Given the description of an element on the screen output the (x, y) to click on. 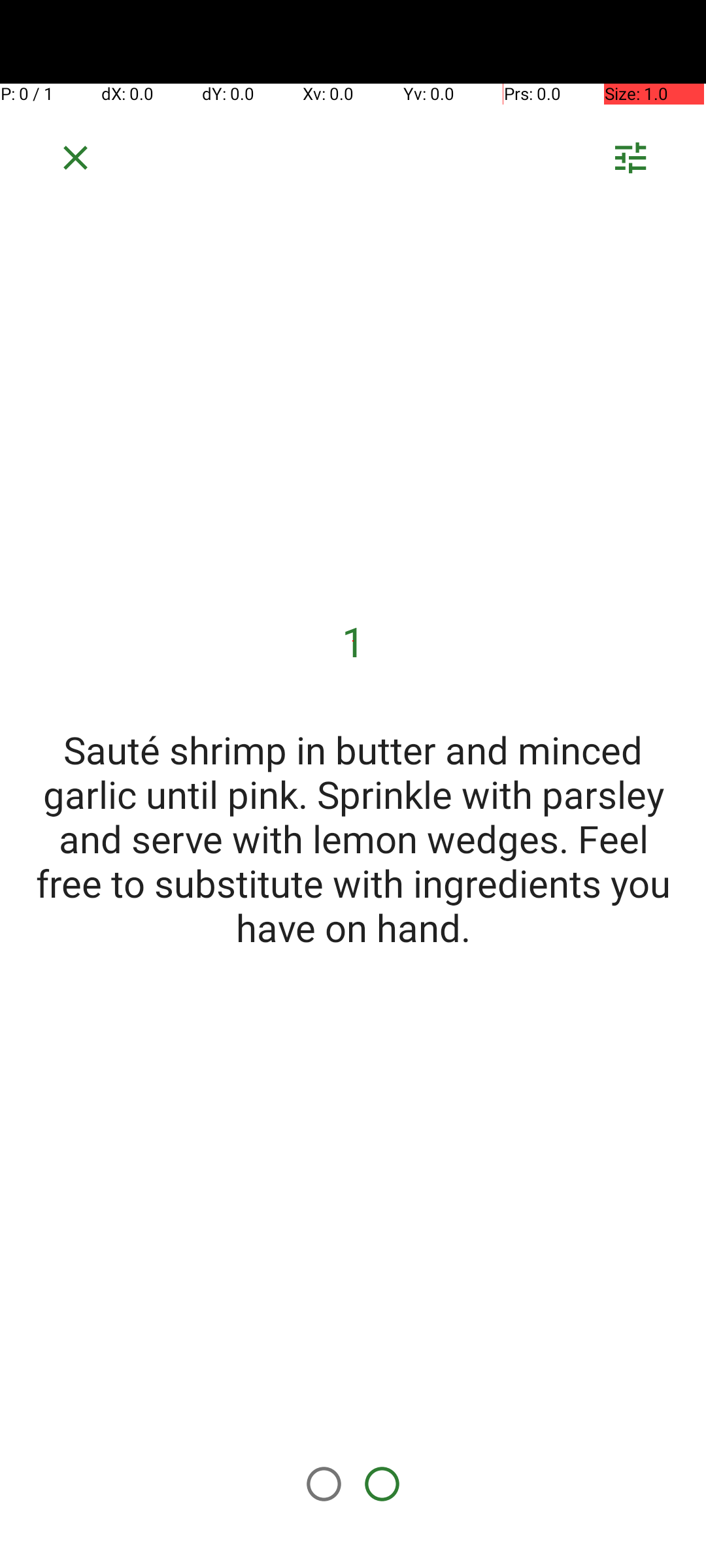
Sauté shrimp in butter and minced garlic until pink. Sprinkle with parsley and serve with lemon wedges. Feel free to substitute with ingredients you have on hand. Element type: android.widget.TextView (352, 837)
